Given the description of an element on the screen output the (x, y) to click on. 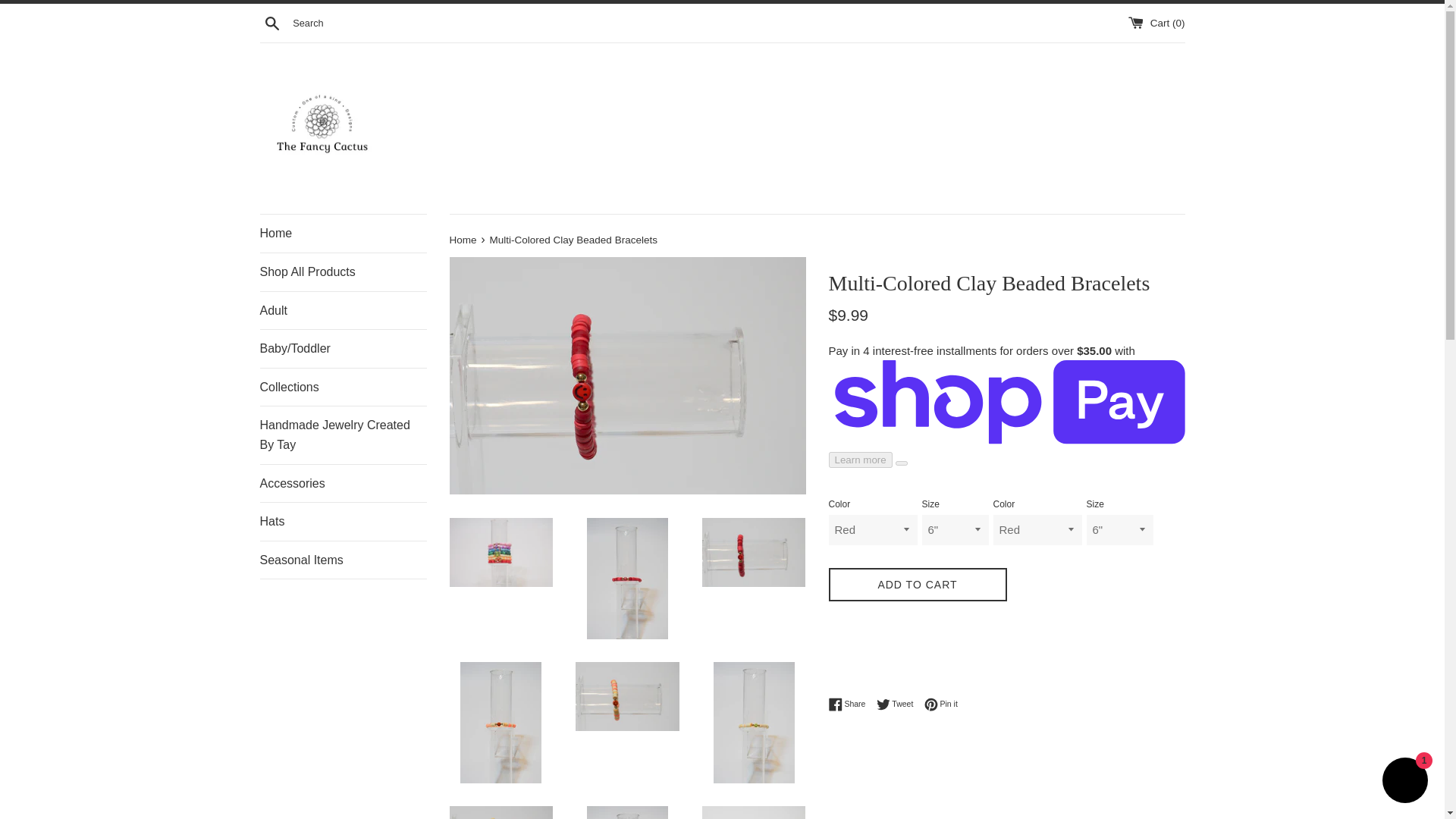
Home (342, 233)
Accessories (342, 483)
Shopify online store chat (941, 704)
Handmade Jewelry Created By Tay (898, 704)
Adult (1404, 781)
ADD TO CART (342, 434)
Shop All Products (342, 310)
Seasonal Items (917, 584)
Share on Facebook (342, 272)
Search (342, 560)
Hats (850, 704)
Pin on Pinterest (271, 21)
